Given the description of an element on the screen output the (x, y) to click on. 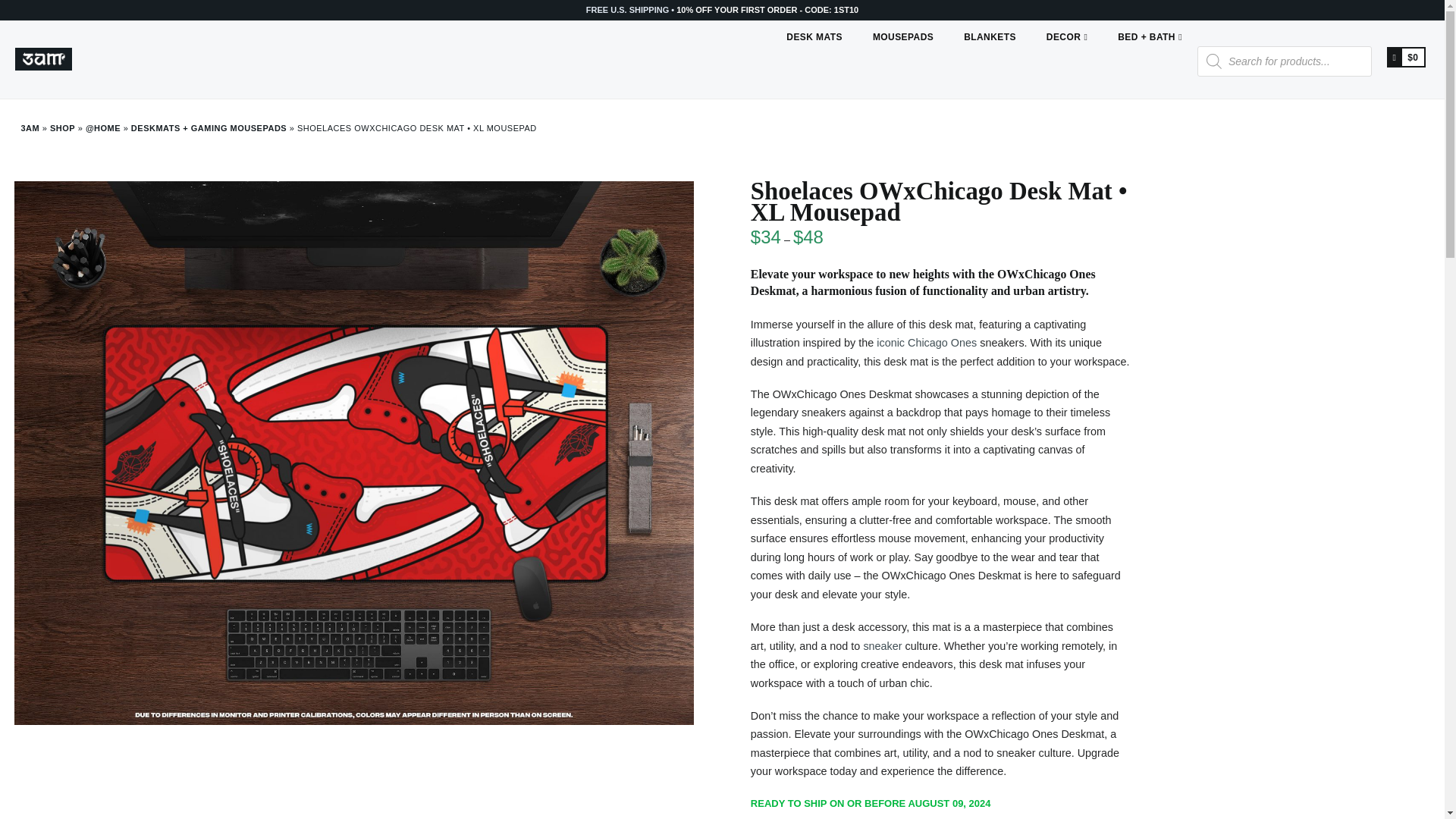
DECOR (1066, 54)
MOUSEPADS (903, 54)
SHOP (62, 127)
sneaker (882, 645)
DESK MATS (814, 54)
3AM (30, 127)
iconic Chicago Ones (926, 342)
BLANKETS (989, 54)
